Given the description of an element on the screen output the (x, y) to click on. 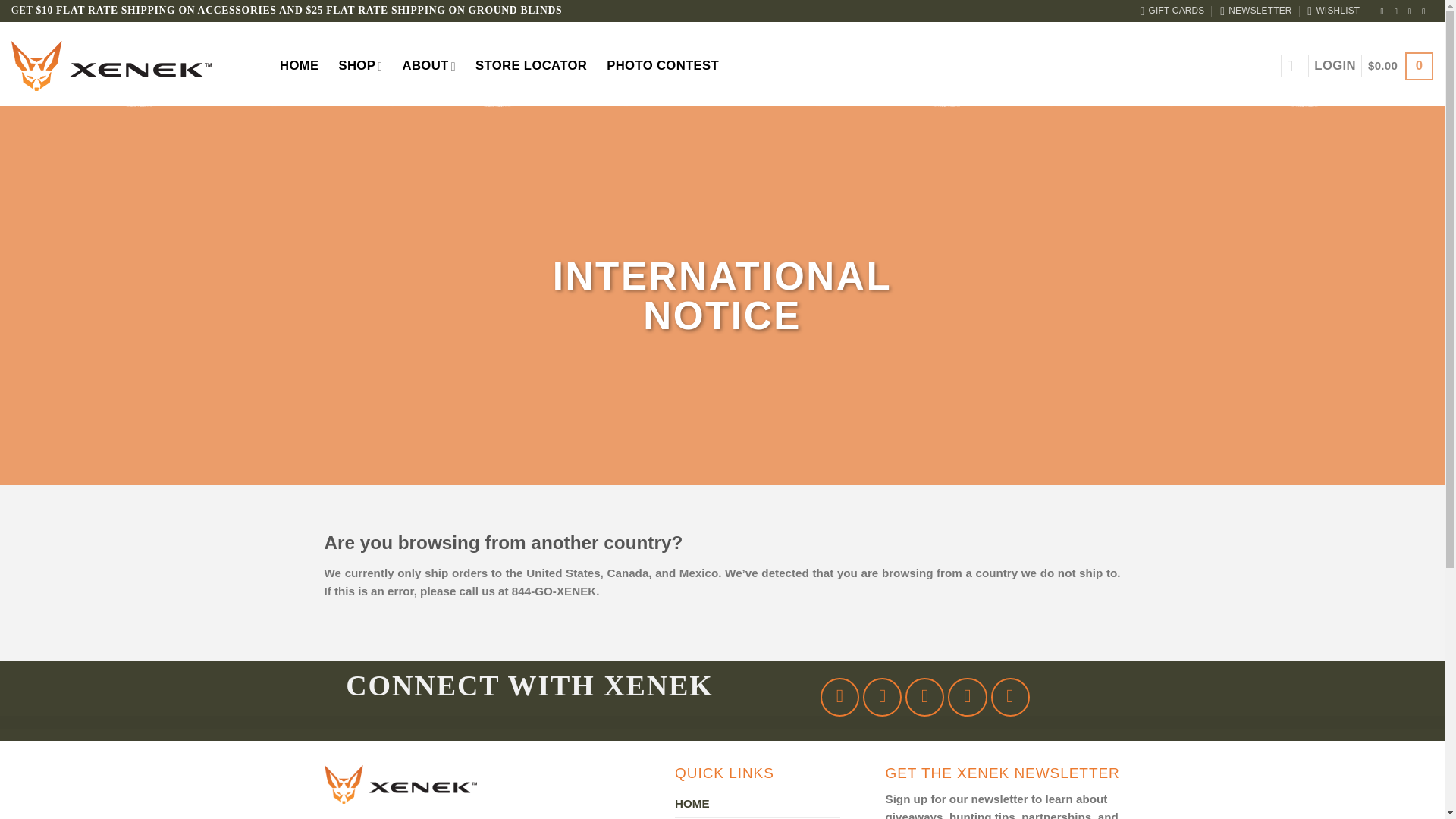
SHOP (359, 66)
Follow on Instagram (882, 697)
WISHLIST (1333, 11)
PHOTO CONTEST (663, 65)
Follow on YouTube (1010, 697)
Cart (1400, 65)
HOME (298, 65)
HOME (692, 803)
GIFT CARDS (1172, 11)
